Given the description of an element on the screen output the (x, y) to click on. 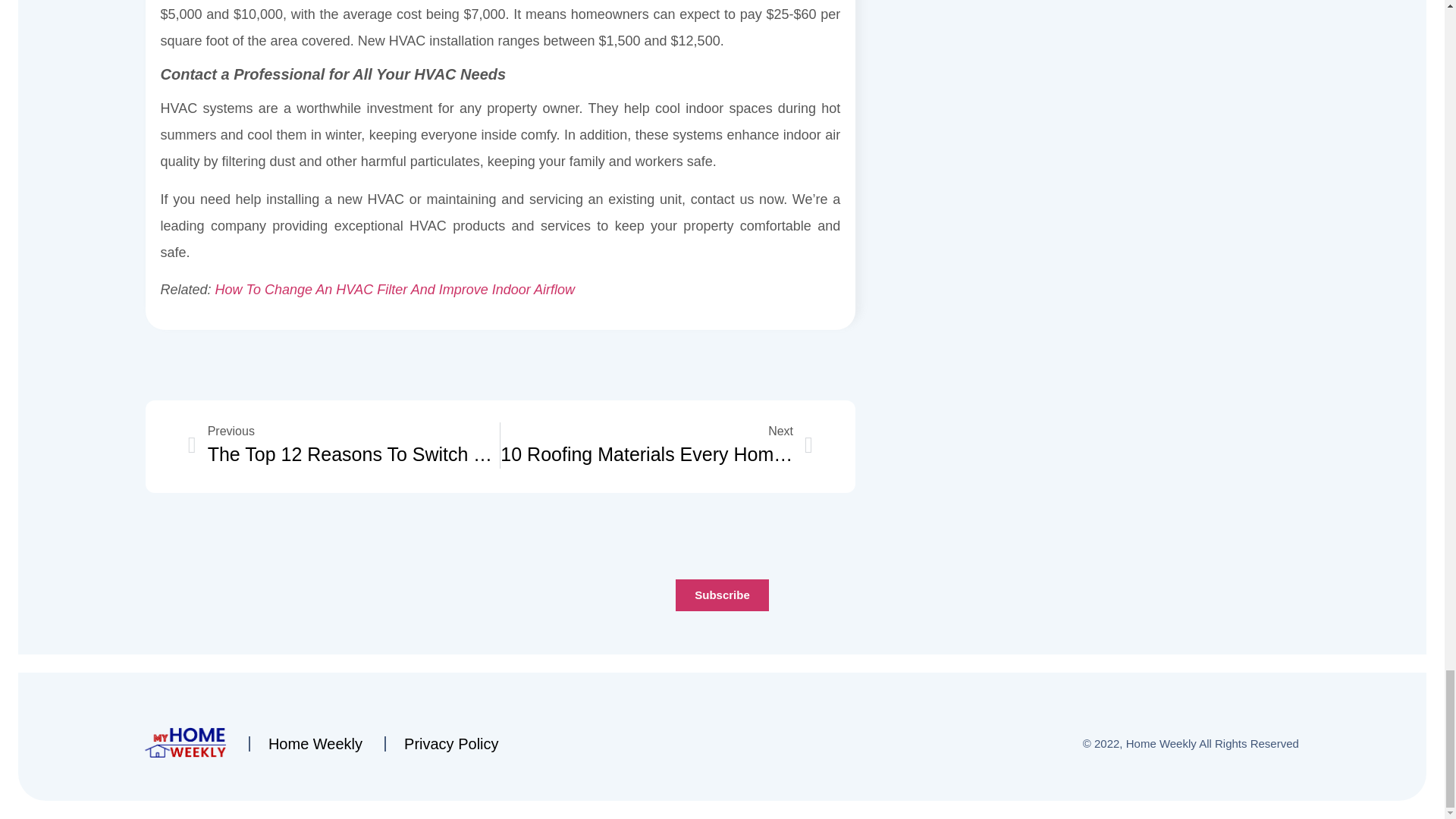
How To Change An HVAC Filter And Improve Indoor Airflow (395, 289)
Subscribe (343, 445)
